Given the description of an element on the screen output the (x, y) to click on. 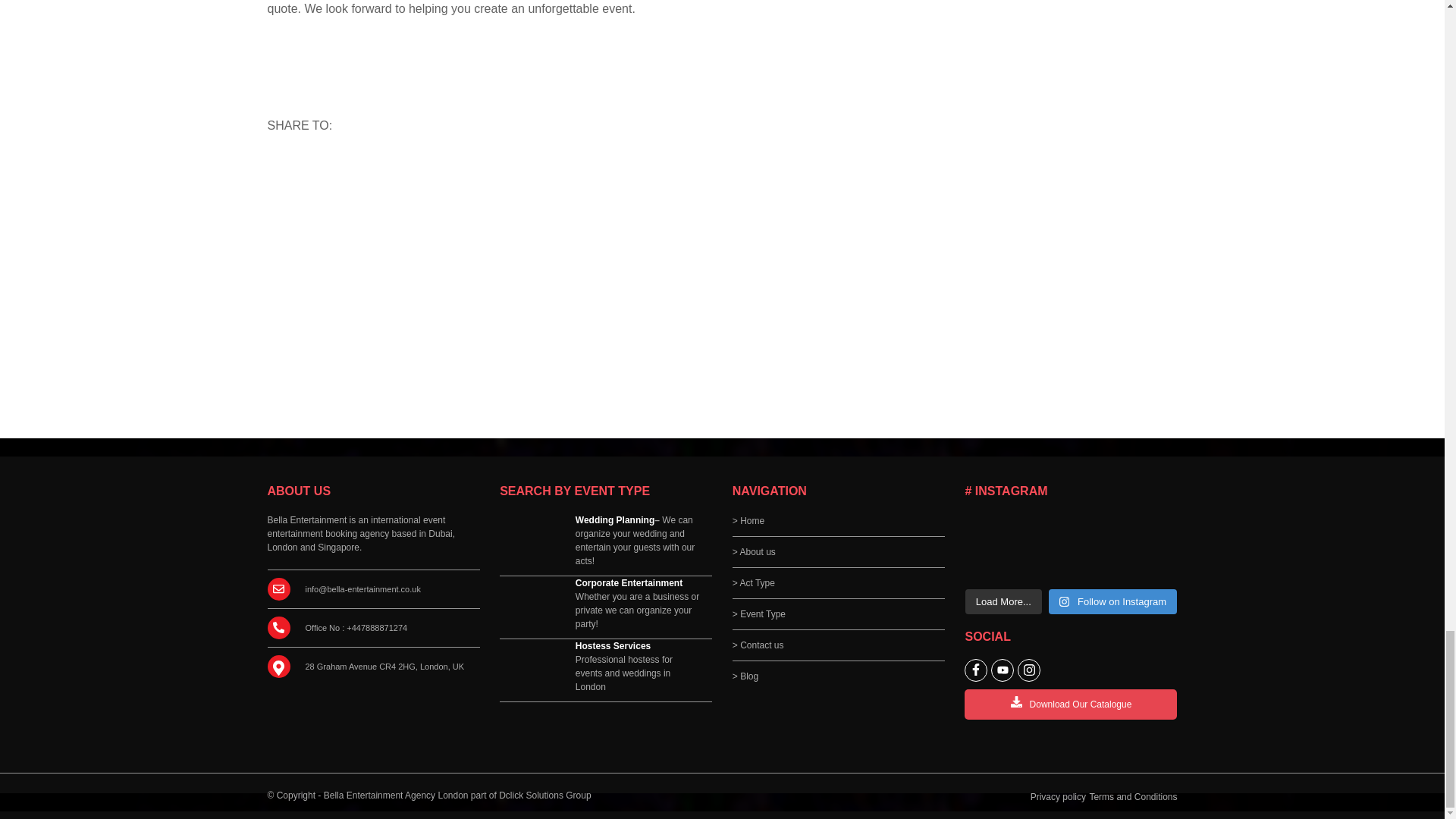
RSS (284, 168)
Twitter (387, 168)
Follow by Email (319, 168)
Facebook (352, 168)
